Given the description of an element on the screen output the (x, y) to click on. 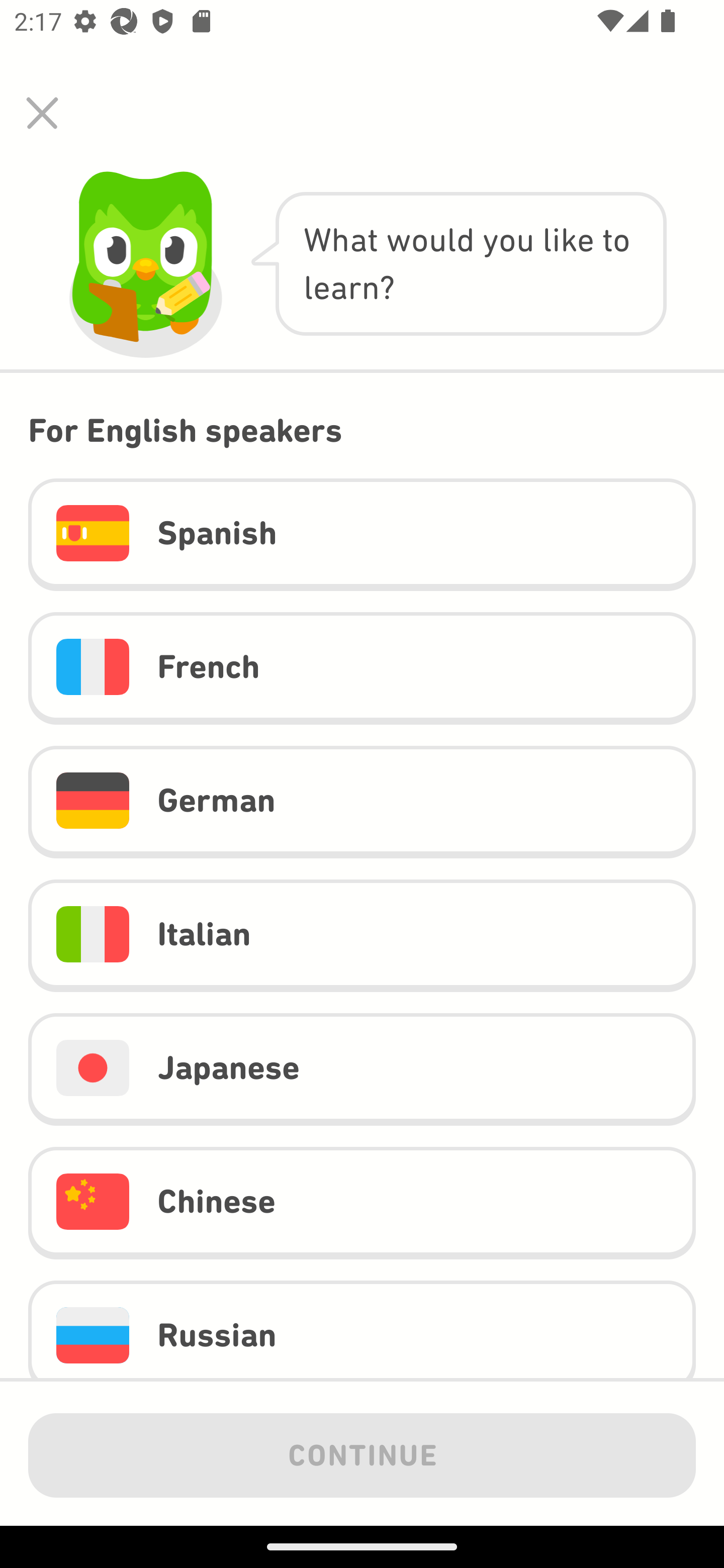
Close Page (41, 112)
For English speakers (361, 430)
Spanish (361, 534)
French (361, 667)
German (361, 801)
Italian (361, 935)
Japanese (361, 1068)
Chinese (361, 1202)
Russian (361, 1329)
